Given the description of an element on the screen output the (x, y) to click on. 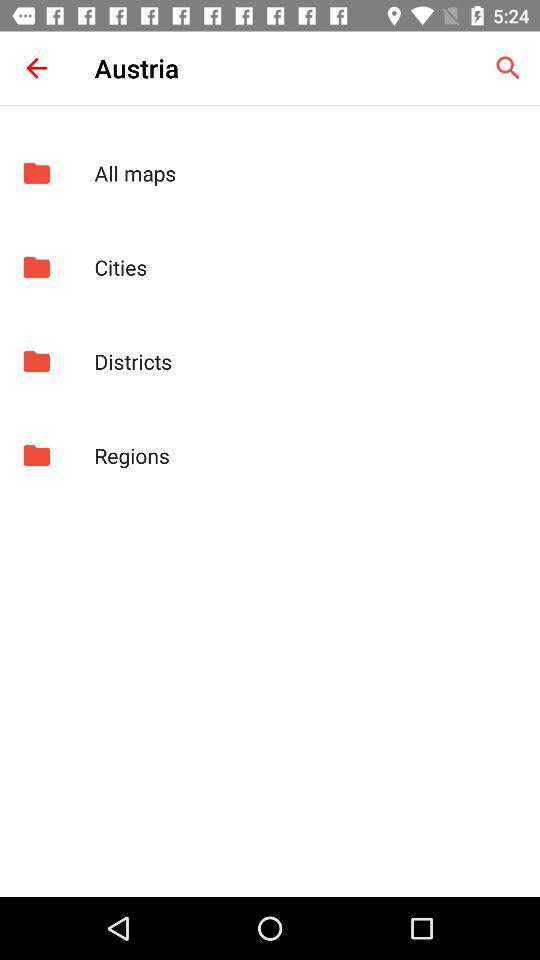
launch the app below cities app (306, 361)
